Given the description of an element on the screen output the (x, y) to click on. 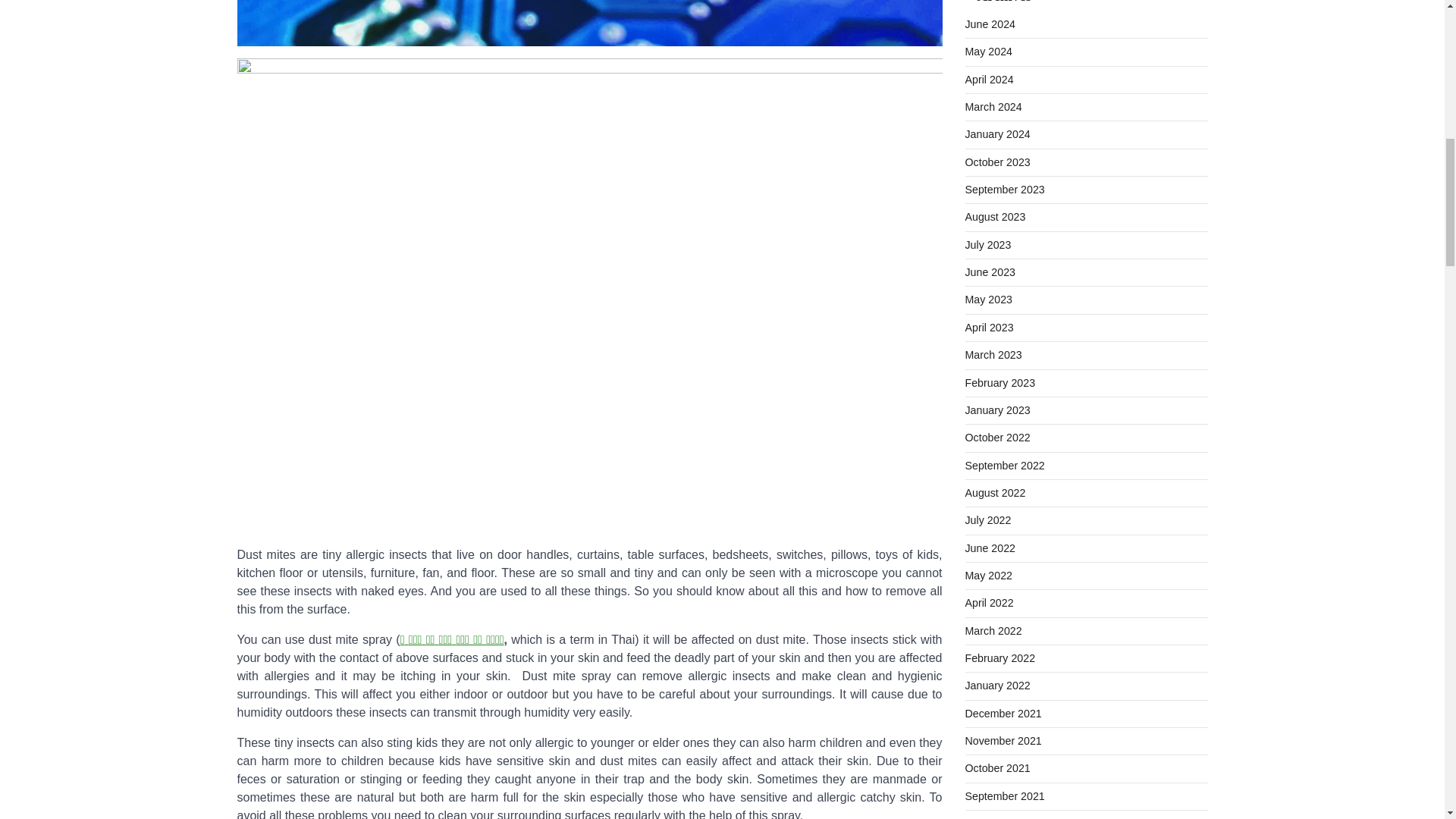
June 2023 (988, 272)
April 2023 (988, 327)
June 2024 (988, 24)
January 2023 (996, 410)
August 2023 (994, 216)
March 2024 (992, 106)
April 2024 (988, 79)
May 2024 (987, 51)
September 2023 (1003, 189)
October 2022 (996, 437)
February 2023 (999, 381)
October 2023 (996, 162)
March 2023 (992, 354)
July 2023 (986, 244)
May 2023 (987, 299)
